Given the description of an element on the screen output the (x, y) to click on. 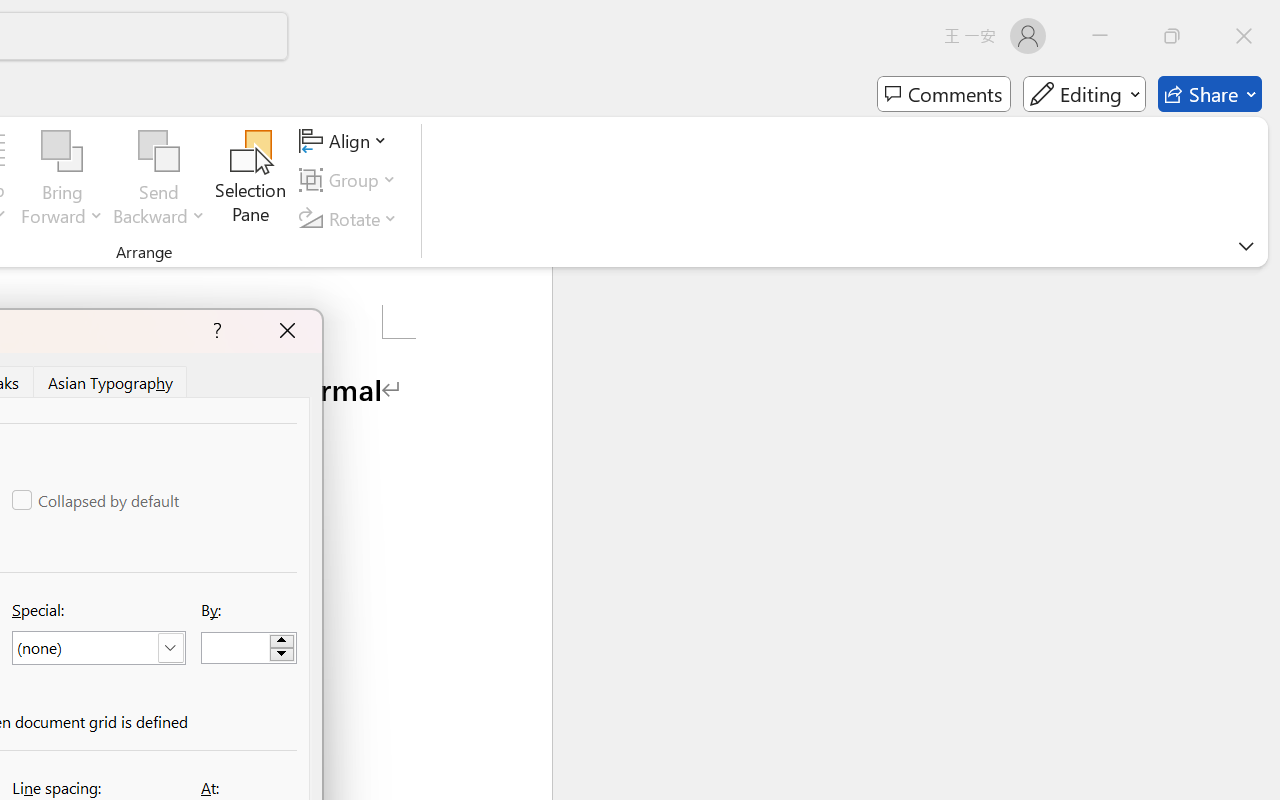
Special: (98, 647)
Bring Forward (62, 151)
Bring Forward (62, 179)
By: (248, 648)
Collapsed by default (97, 500)
Align (346, 141)
Selection Pane... (251, 179)
Rotate (351, 218)
Send Backward (159, 151)
